Given the description of an element on the screen output the (x, y) to click on. 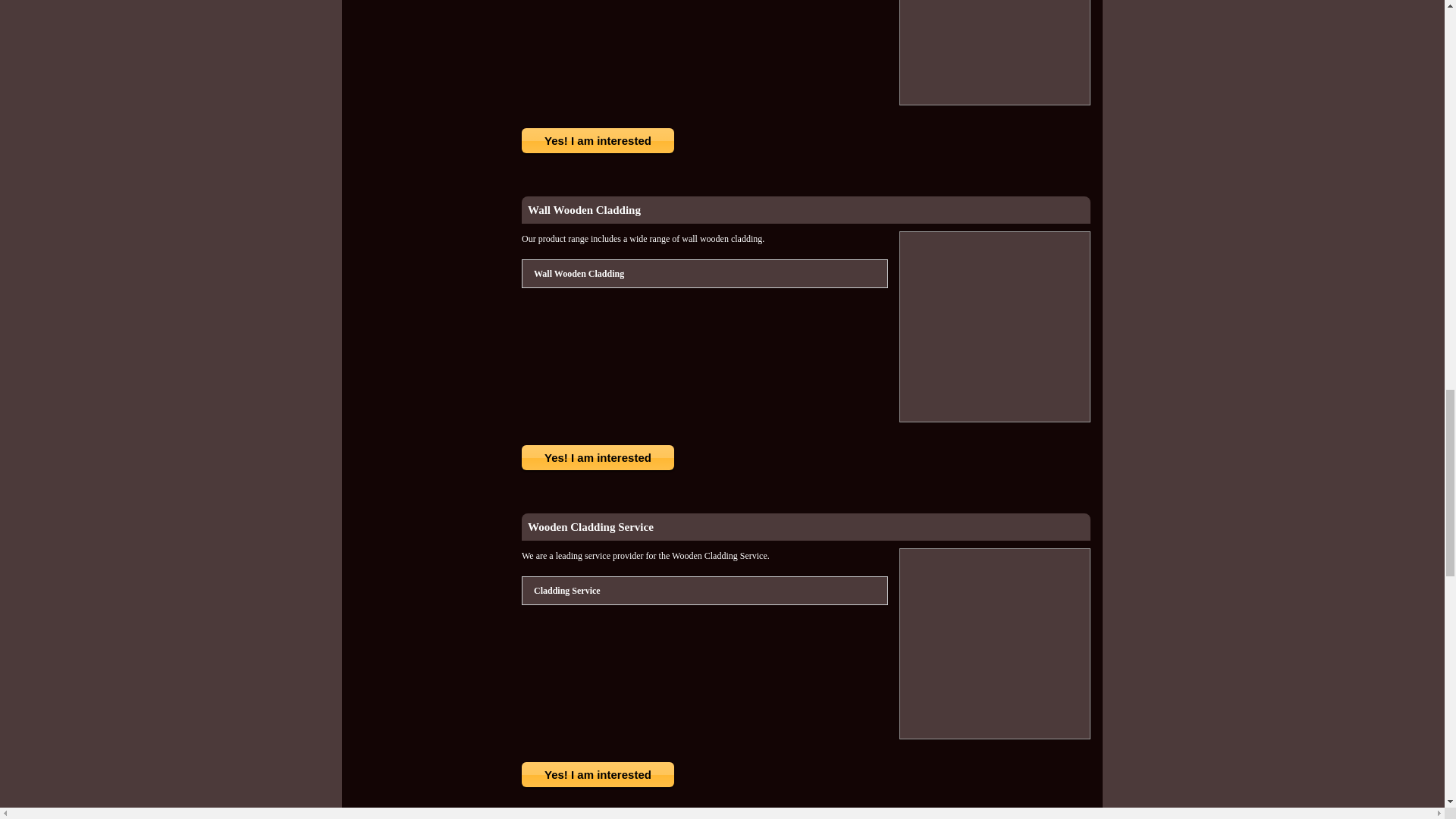
Cladding Service (565, 590)
Wall Wooden Cladding (577, 273)
Wooden Cladding Service (590, 526)
Wall Wooden Cladding (583, 209)
